Given the description of an element on the screen output the (x, y) to click on. 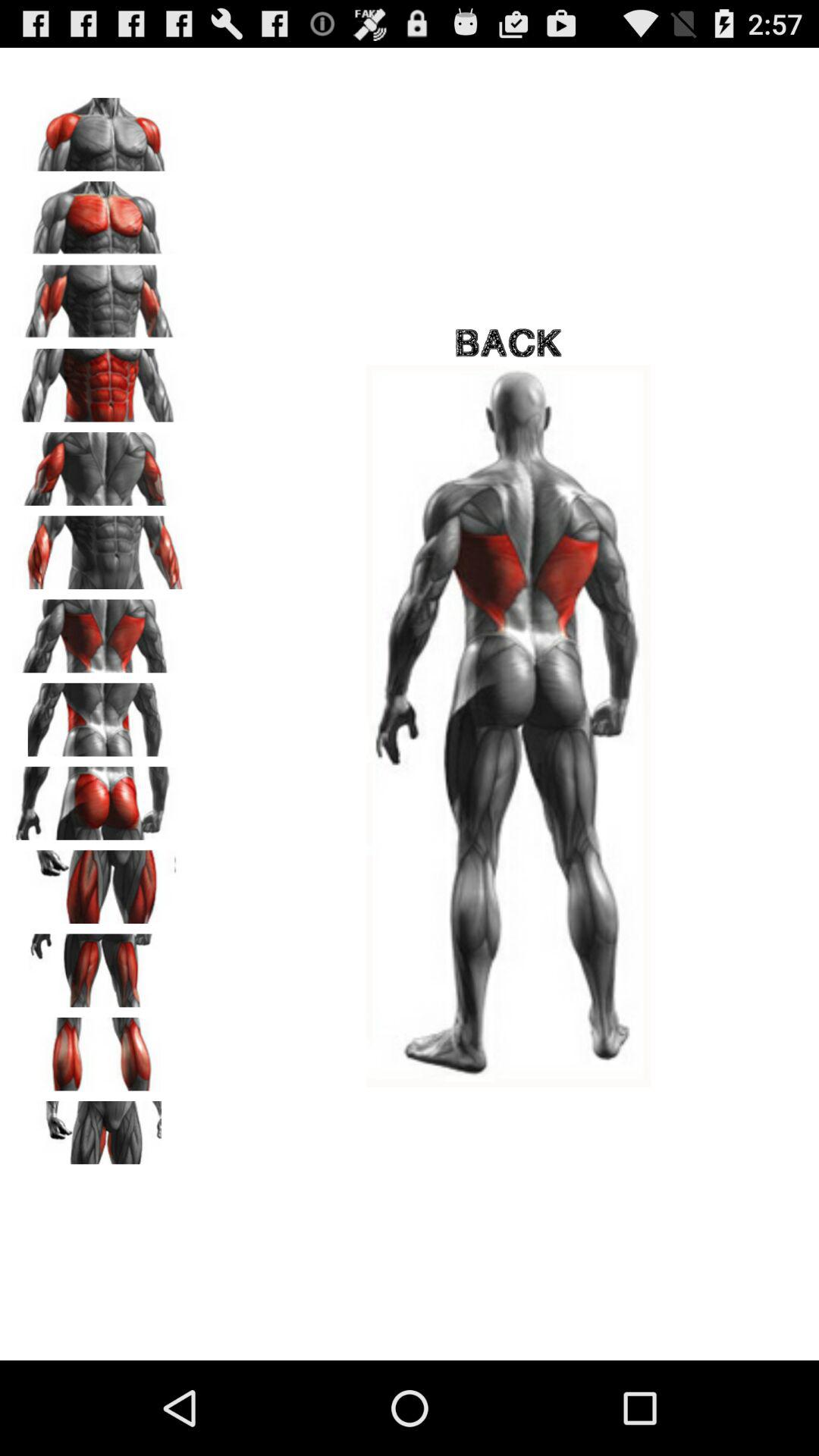
zoom to area (99, 1048)
